Given the description of an element on the screen output the (x, y) to click on. 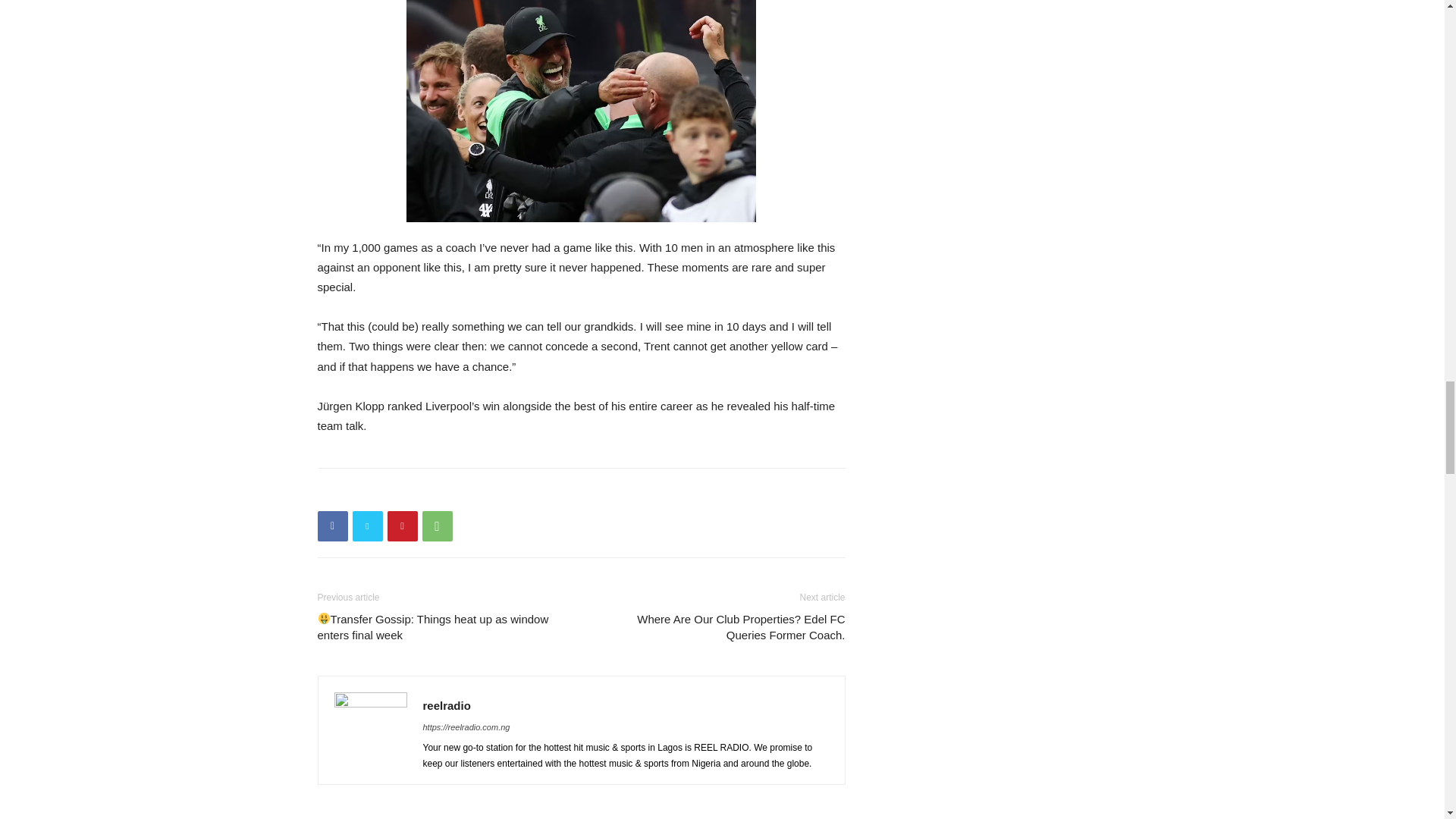
Facebook (332, 526)
WhatsApp (436, 526)
Twitter (366, 526)
Pinterest (401, 526)
